Given the description of an element on the screen output the (x, y) to click on. 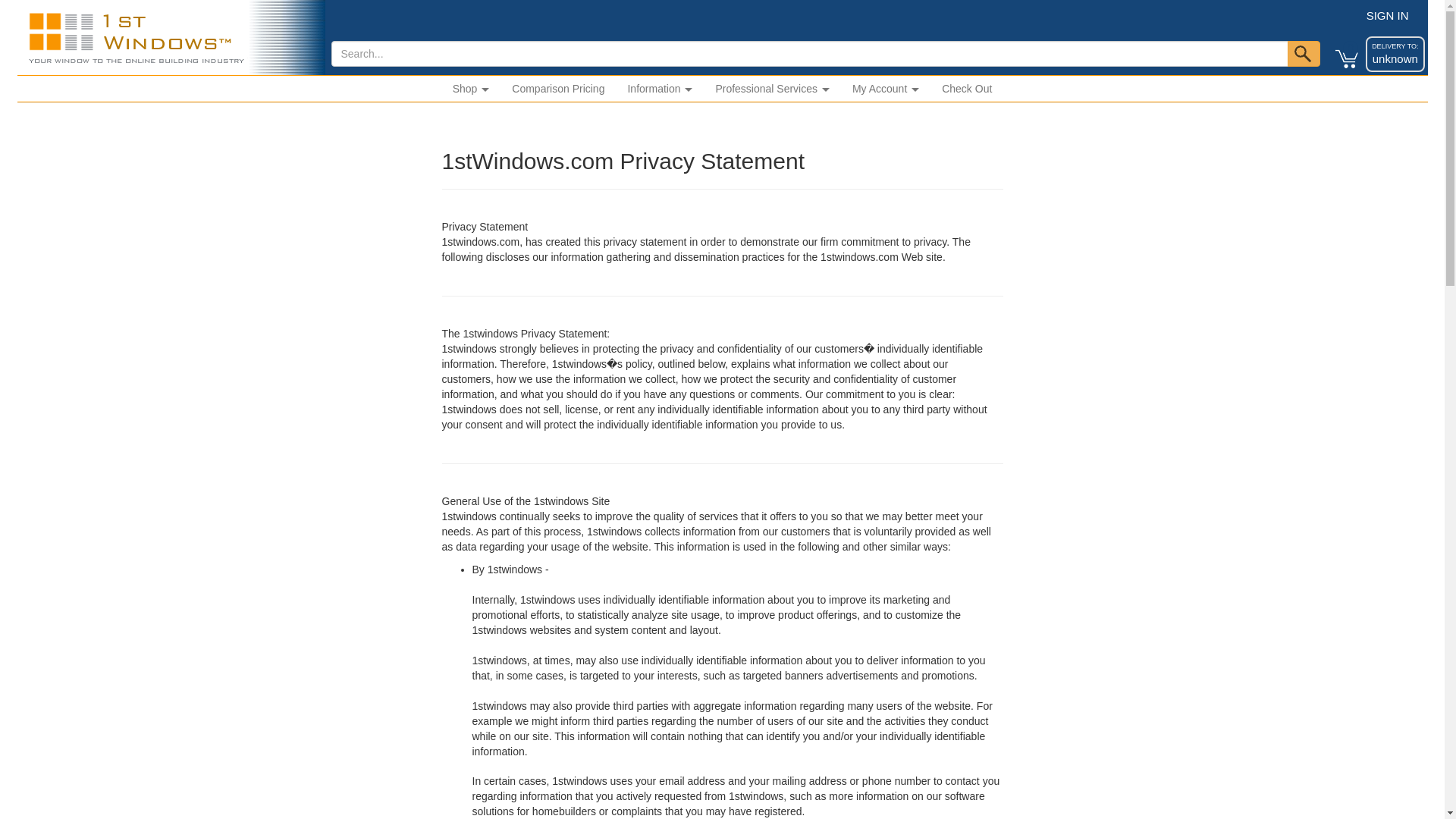
0 (1342, 42)
Shop (470, 88)
Information (1395, 42)
Professional Services (659, 88)
My Account (772, 88)
Check Out (885, 88)
SIGN IN (966, 88)
Comparison Pricing (1388, 15)
